Given the description of an element on the screen output the (x, y) to click on. 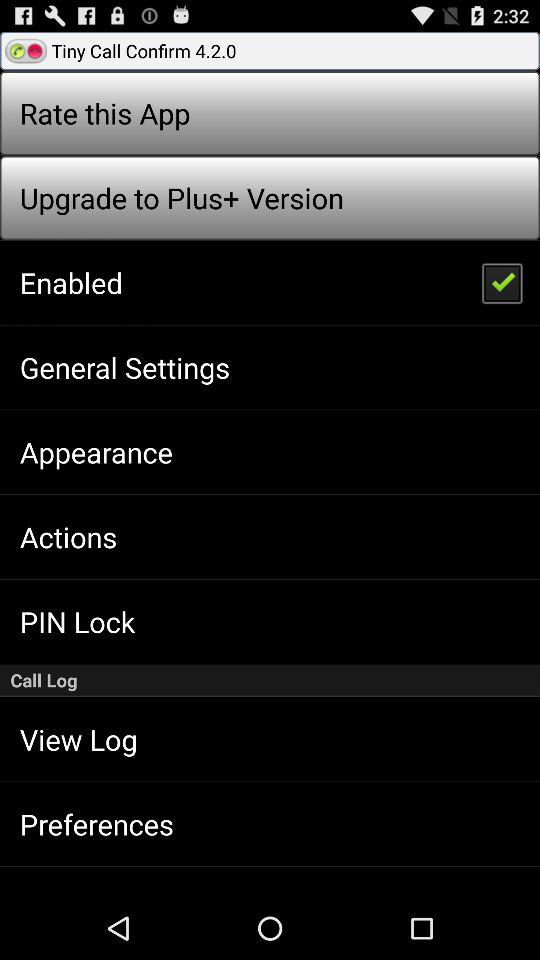
tap item above the rate this app item (269, 50)
